Given the description of an element on the screen output the (x, y) to click on. 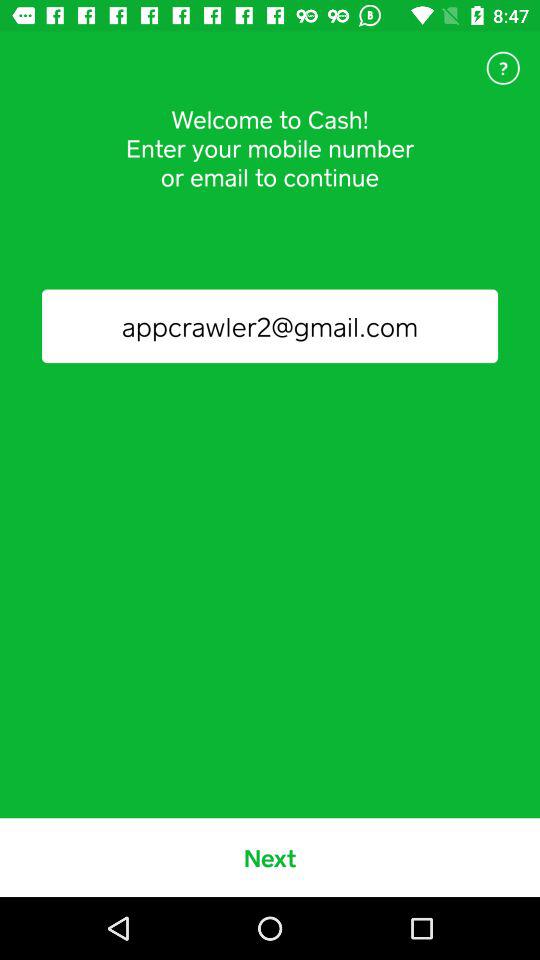
swipe until the appcrawler2@gmail.com icon (269, 326)
